Given the description of an element on the screen output the (x, y) to click on. 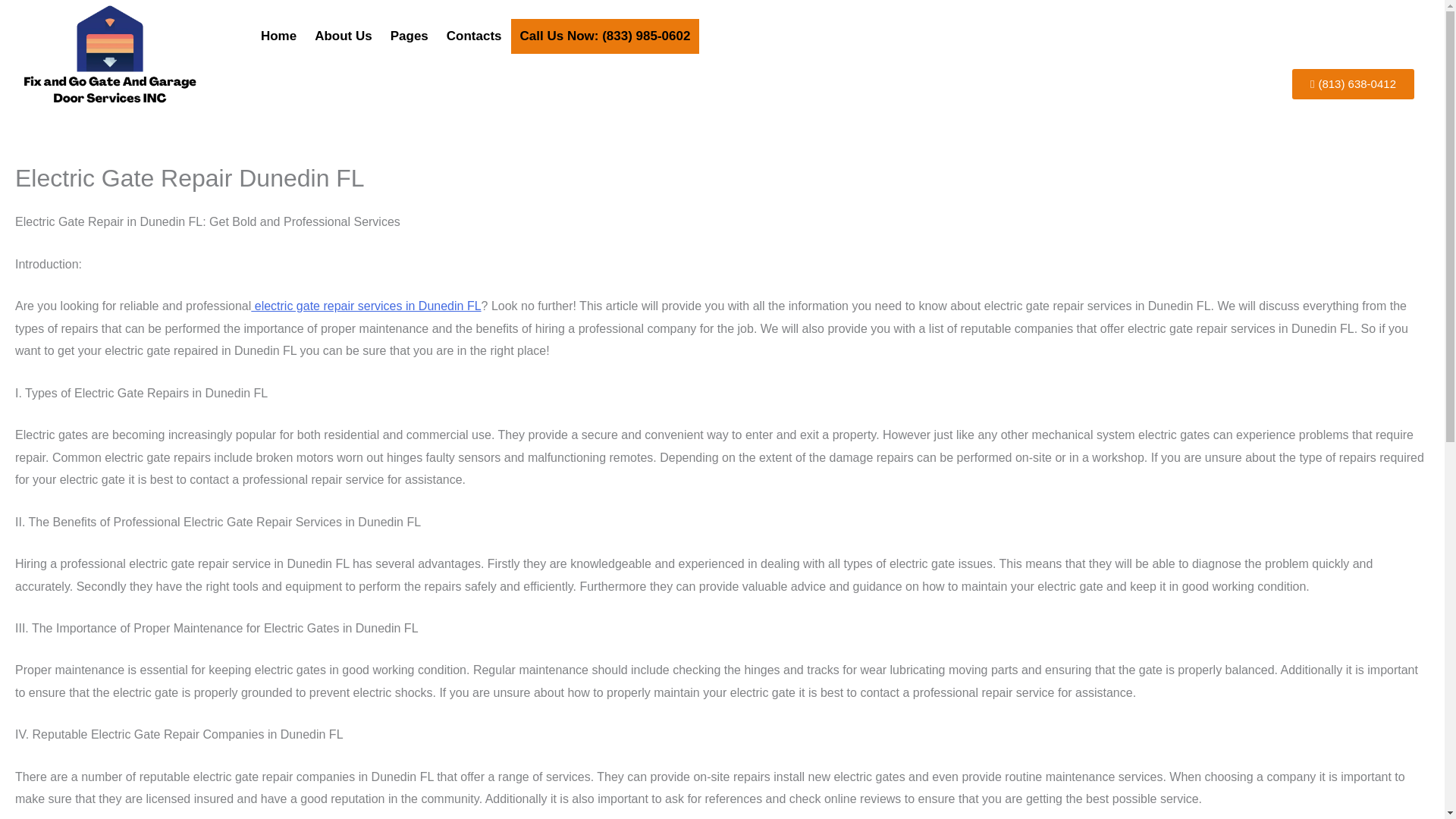
Home (278, 36)
Contacts (474, 36)
electric gate repair services in Dunedin FL (365, 305)
About Us (343, 36)
Pages (409, 36)
